Given the description of an element on the screen output the (x, y) to click on. 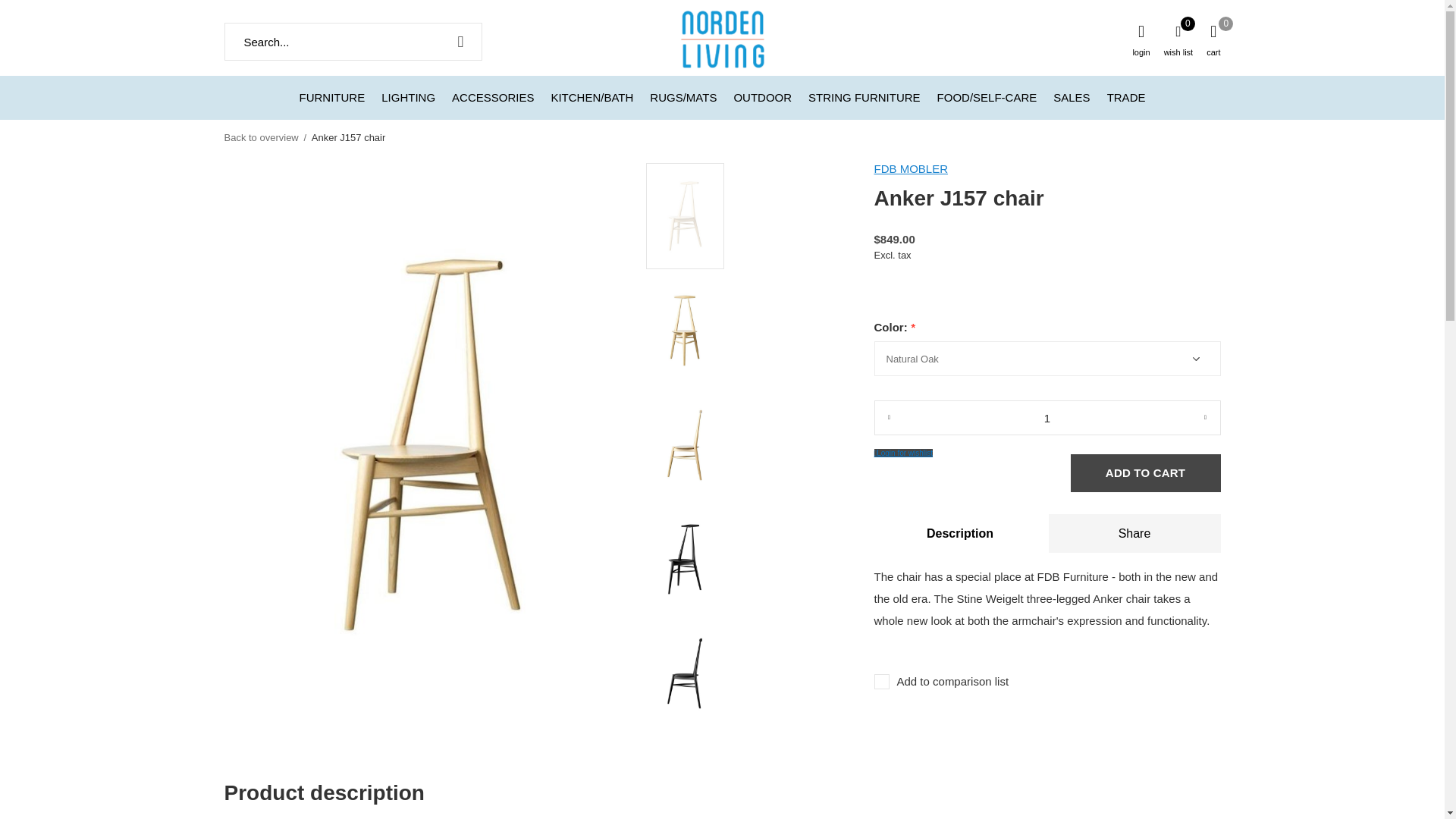
LIGHTING (408, 96)
ACCESSORIES (492, 96)
FURNITURE (332, 96)
1 (1046, 417)
